Given the description of an element on the screen output the (x, y) to click on. 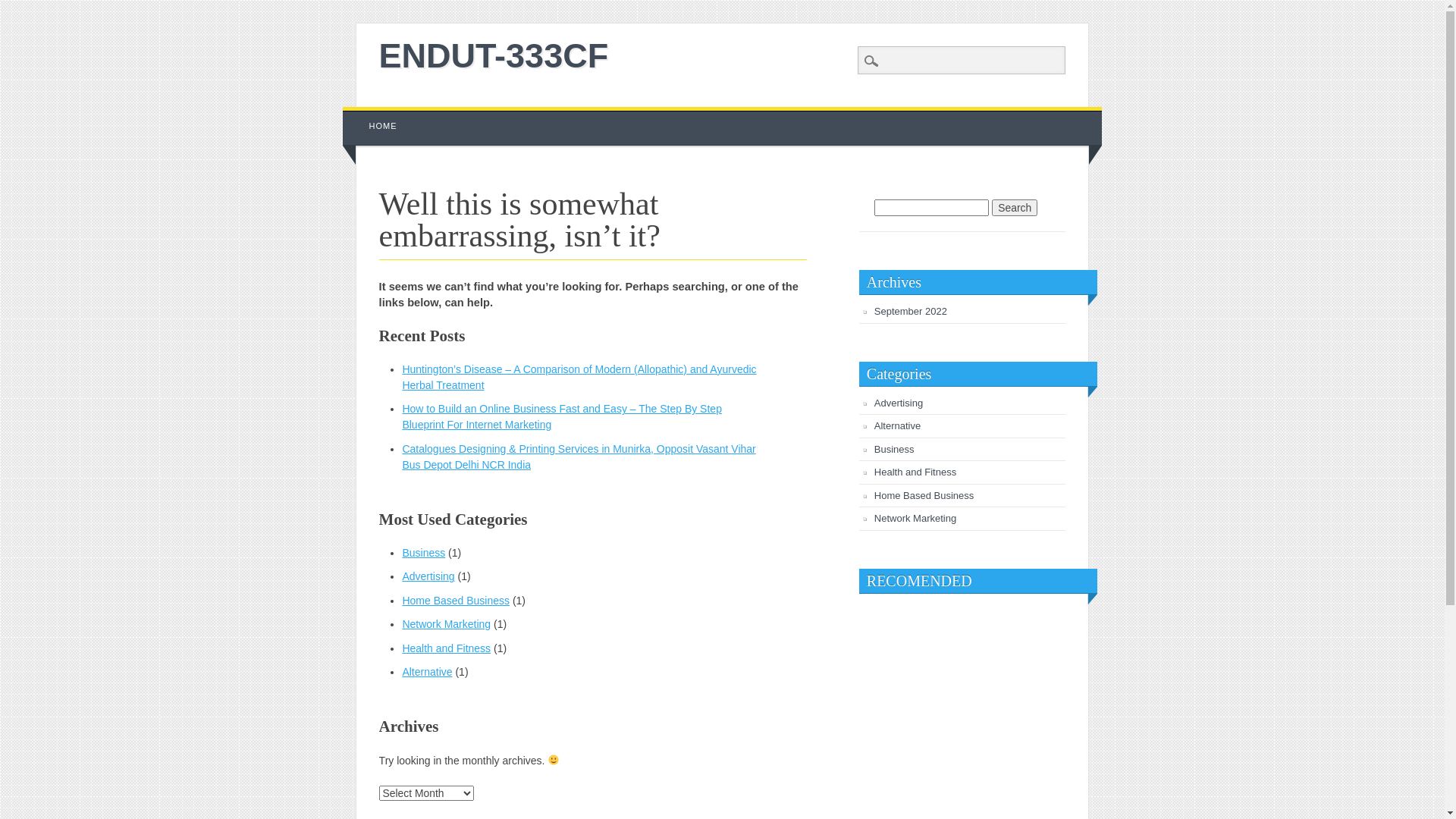
ENDUT-333CF Element type: text (493, 55)
September 2022 Element type: text (910, 310)
HOME Element type: text (383, 125)
Search Element type: text (22, 8)
Home Based Business Element type: text (455, 600)
Alternative Element type: text (426, 671)
Skip to content Element type: text (377, 114)
Alternative Element type: text (897, 425)
Business Element type: text (423, 552)
Business Element type: text (894, 449)
Home Based Business Element type: text (924, 495)
Advertising Element type: text (427, 576)
Health and Fitness Element type: text (445, 648)
Search Element type: text (1014, 207)
Network Marketing Element type: text (915, 518)
Network Marketing Element type: text (445, 624)
Health and Fitness Element type: text (915, 471)
Advertising Element type: text (898, 402)
